Given the description of an element on the screen output the (x, y) to click on. 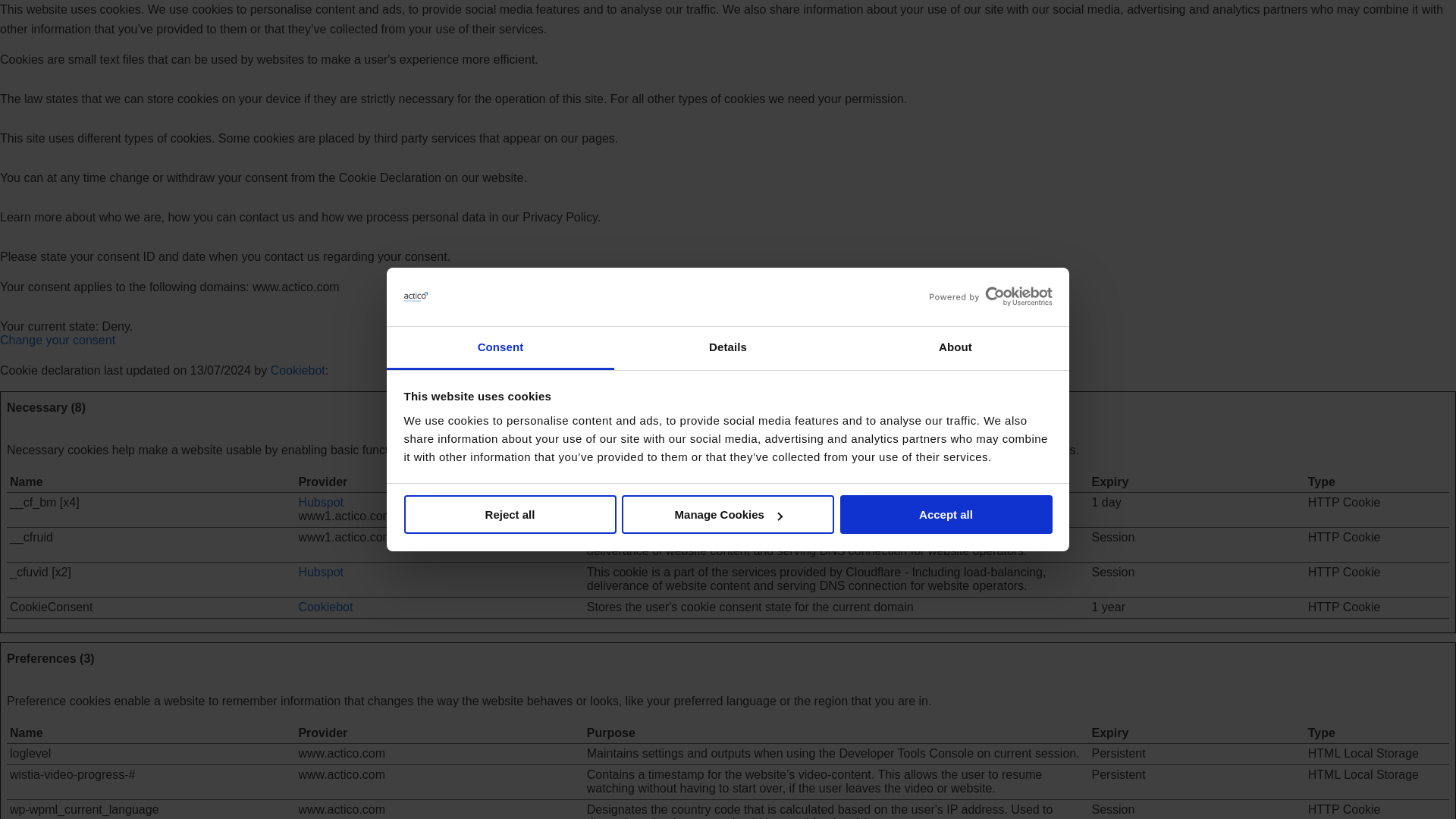
Cookiebot (297, 369)
Cookiebot's privacy policy (325, 606)
Details (727, 348)
Hubspot's privacy policy (320, 571)
Cookiebot (325, 606)
About (954, 348)
Hubspot (320, 571)
Cookiebot (297, 369)
Hubspot (320, 502)
Change your consent (57, 339)
Consent (500, 348)
Hubspot's privacy policy (320, 502)
